Given the description of an element on the screen output the (x, y) to click on. 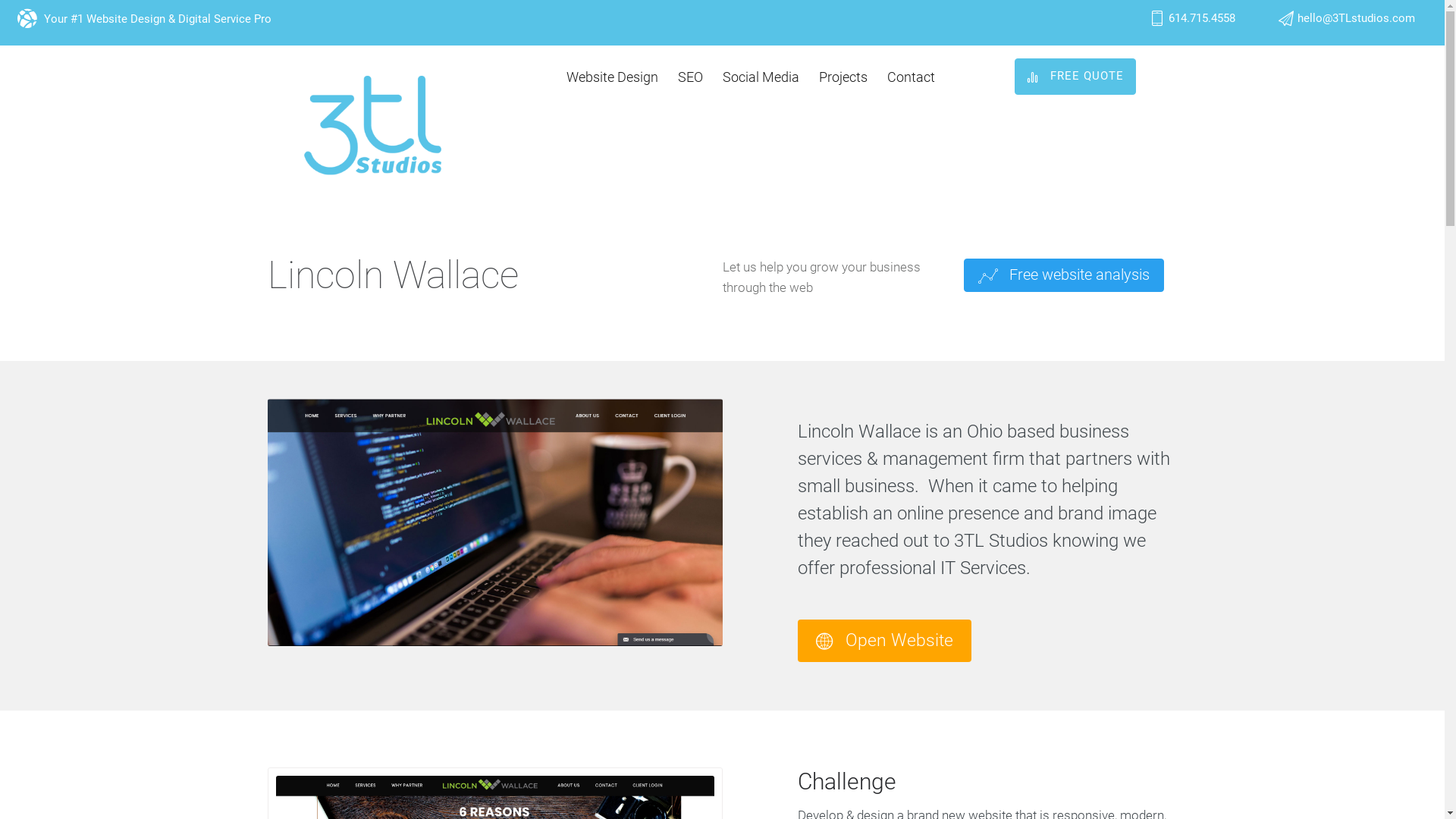
Projects Element type: text (843, 77)
SEO Element type: text (689, 77)
Open Website Element type: text (884, 640)
FREE QUOTE Element type: text (1074, 76)
Social Media Element type: text (760, 77)
falt-illustration-imac Element type: hover (493, 522)
hello@3TLstudios.com Element type: text (1356, 18)
Free website analysis Element type: text (1063, 274)
614.715.4558 Element type: text (1201, 18)
Website Design Element type: text (612, 77)
Contact Element type: text (911, 77)
